Given the description of an element on the screen output the (x, y) to click on. 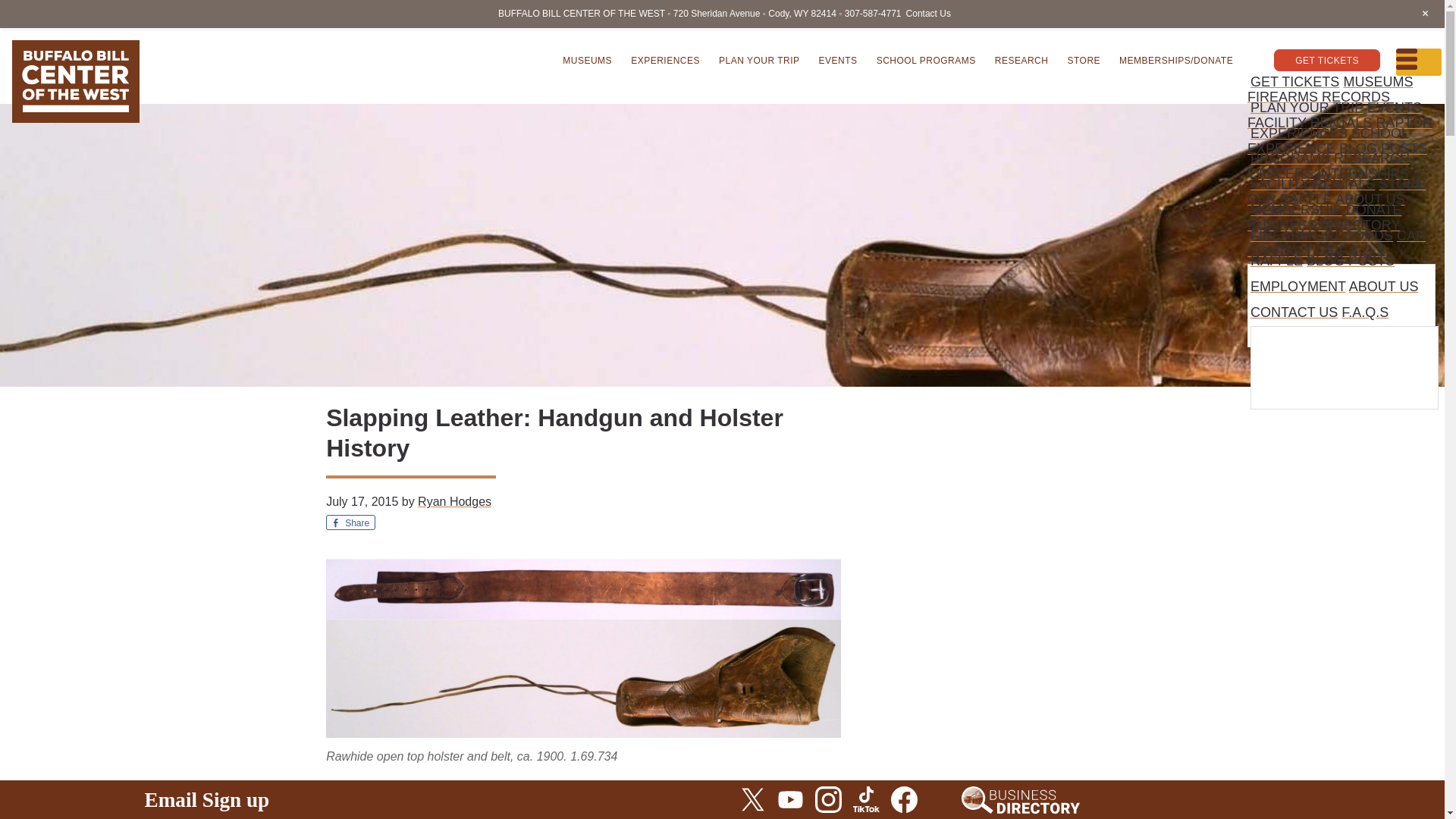
CAREERS (1280, 173)
EXPERIENCES (665, 59)
STORE (1401, 183)
FACILITY RENTALS (1309, 122)
BLOG POSTS (1350, 260)
CONTACT US (1291, 249)
BLOG POSTS (1382, 148)
CAR RAFFLE (1289, 199)
MUSEUMS (587, 59)
GET TICKETS (1326, 59)
MUSEUMS (1377, 81)
Buffalo Bill Center of the West, Cody Wyoming (75, 81)
SCHOOL PROGRAMS (926, 59)
RESEARCH (1022, 59)
ABOUT US (1370, 199)
